Given the description of an element on the screen output the (x, y) to click on. 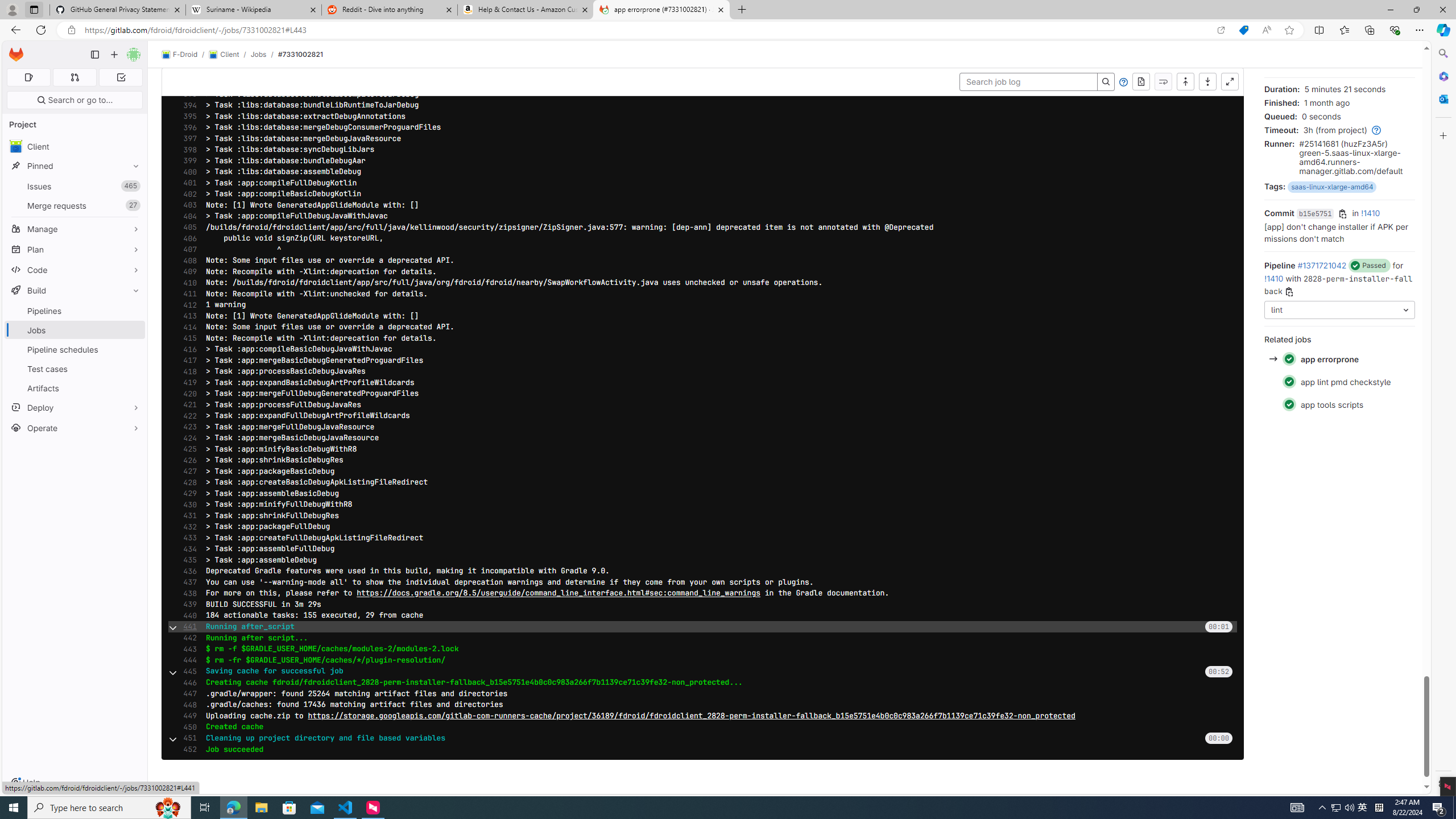
445 Saving cache for successful job 00:52 (702, 671)
427 (186, 471)
401 (186, 183)
2828-perm-installer-fallback (1337, 284)
Show complete raw (1141, 81)
433 (186, 537)
441 (186, 626)
434 (186, 548)
417 (186, 360)
Operate (74, 427)
BuildPipelinesJobsPipeline schedulesTest casesArtifacts (74, 338)
